Given the description of an element on the screen output the (x, y) to click on. 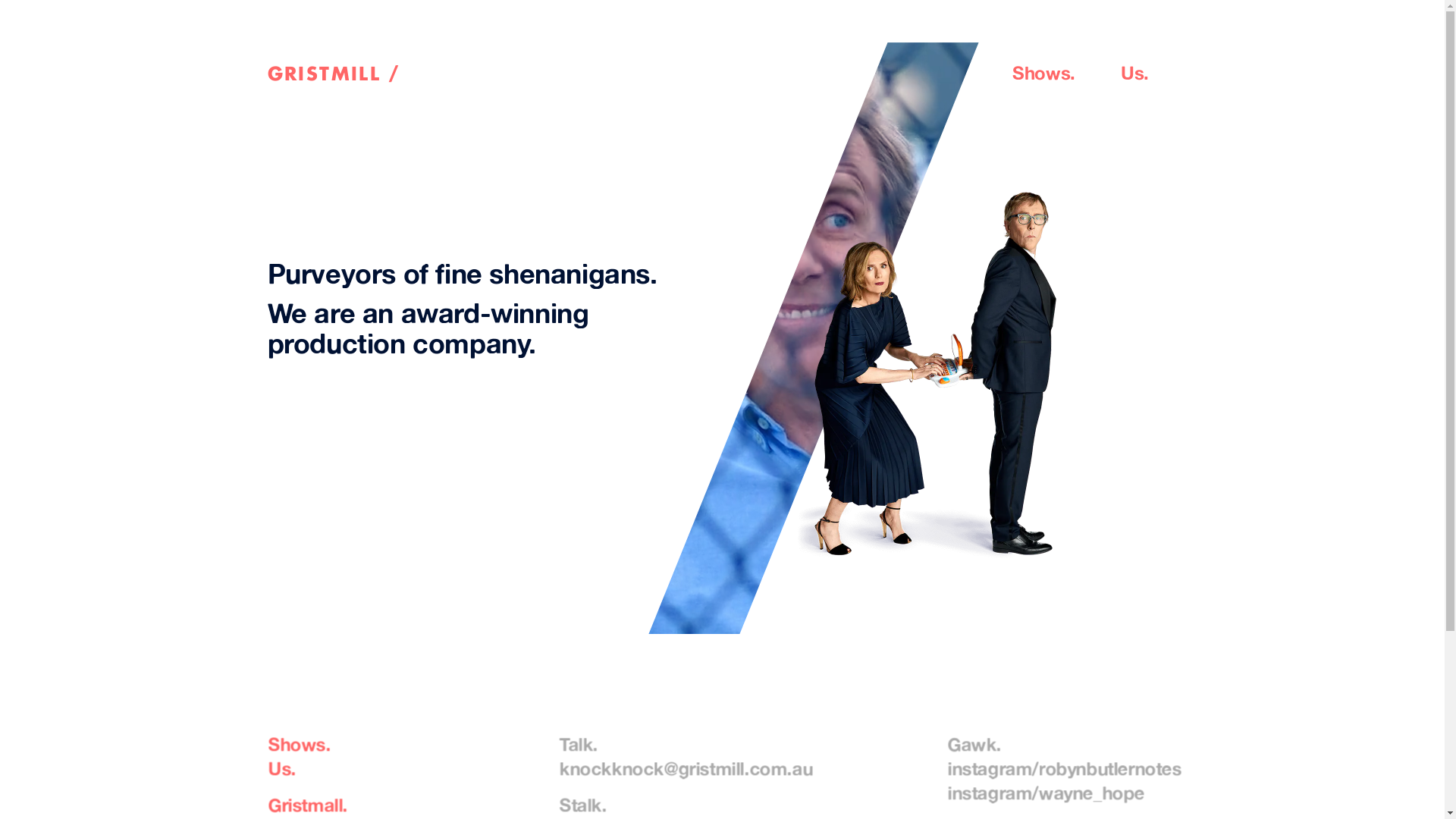
Us. Element type: text (281, 767)
Shows Element type: text (1041, 72)
GRISTMILL / Element type: text (493, 72)
instagram/wayne_hope Element type: text (1045, 792)
knockknock@gristmill.com.au Element type: text (685, 768)
Gristmall. Element type: text (307, 804)
instagram/robynbutlernotes Element type: text (1064, 767)
Shows. Element type: text (298, 743)
Us Element type: text (1131, 72)
